Given the description of an element on the screen output the (x, y) to click on. 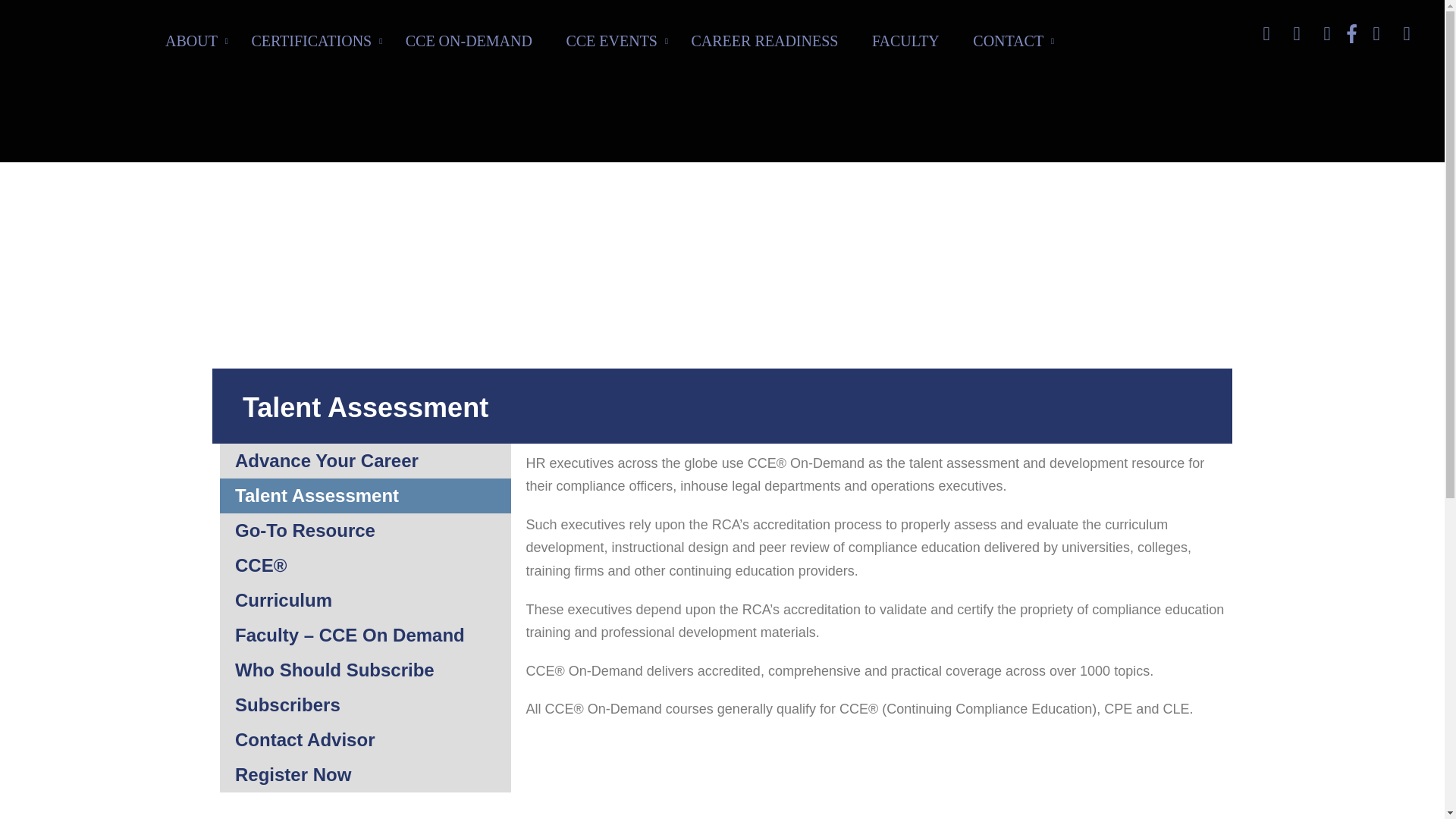
facebook (1351, 33)
ABOUT (190, 47)
